Given the description of an element on the screen output the (x, y) to click on. 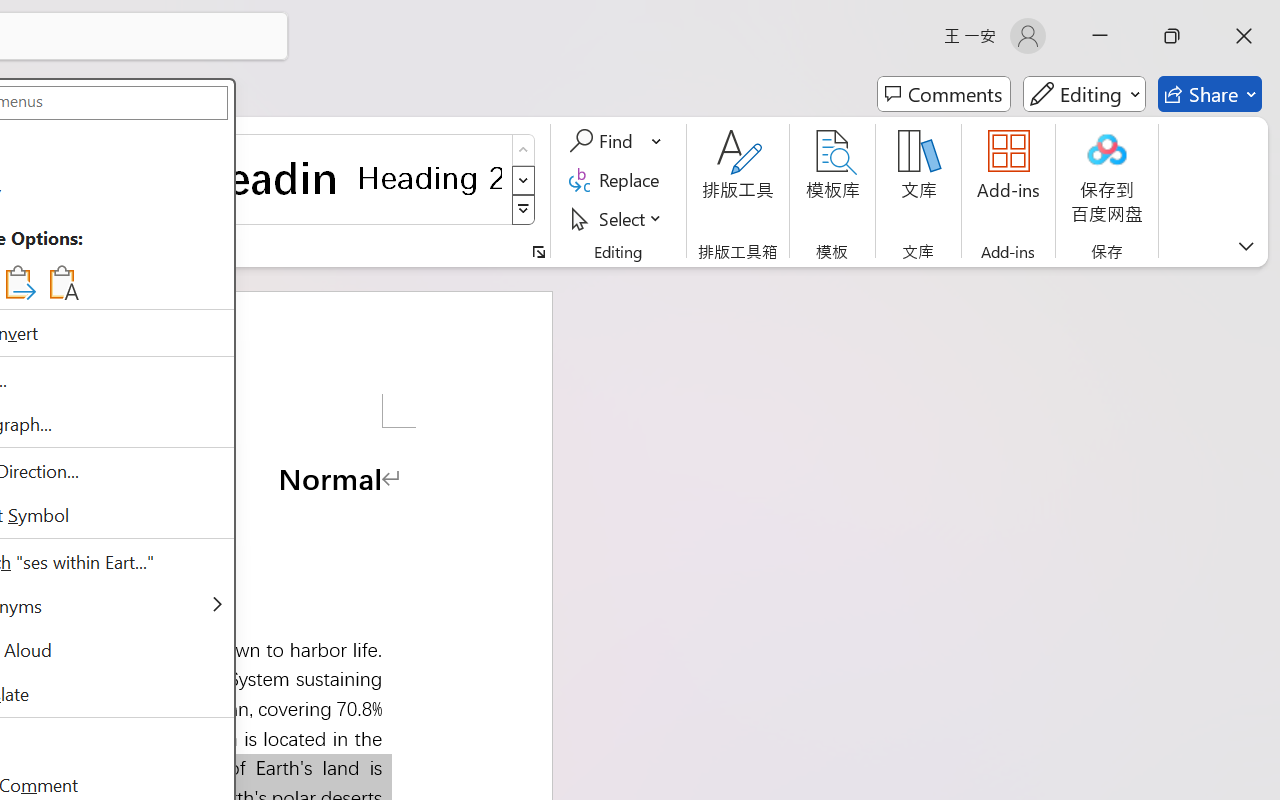
Row Down (523, 180)
Styles (523, 209)
Heading 2 (429, 178)
